Given the description of an element on the screen output the (x, y) to click on. 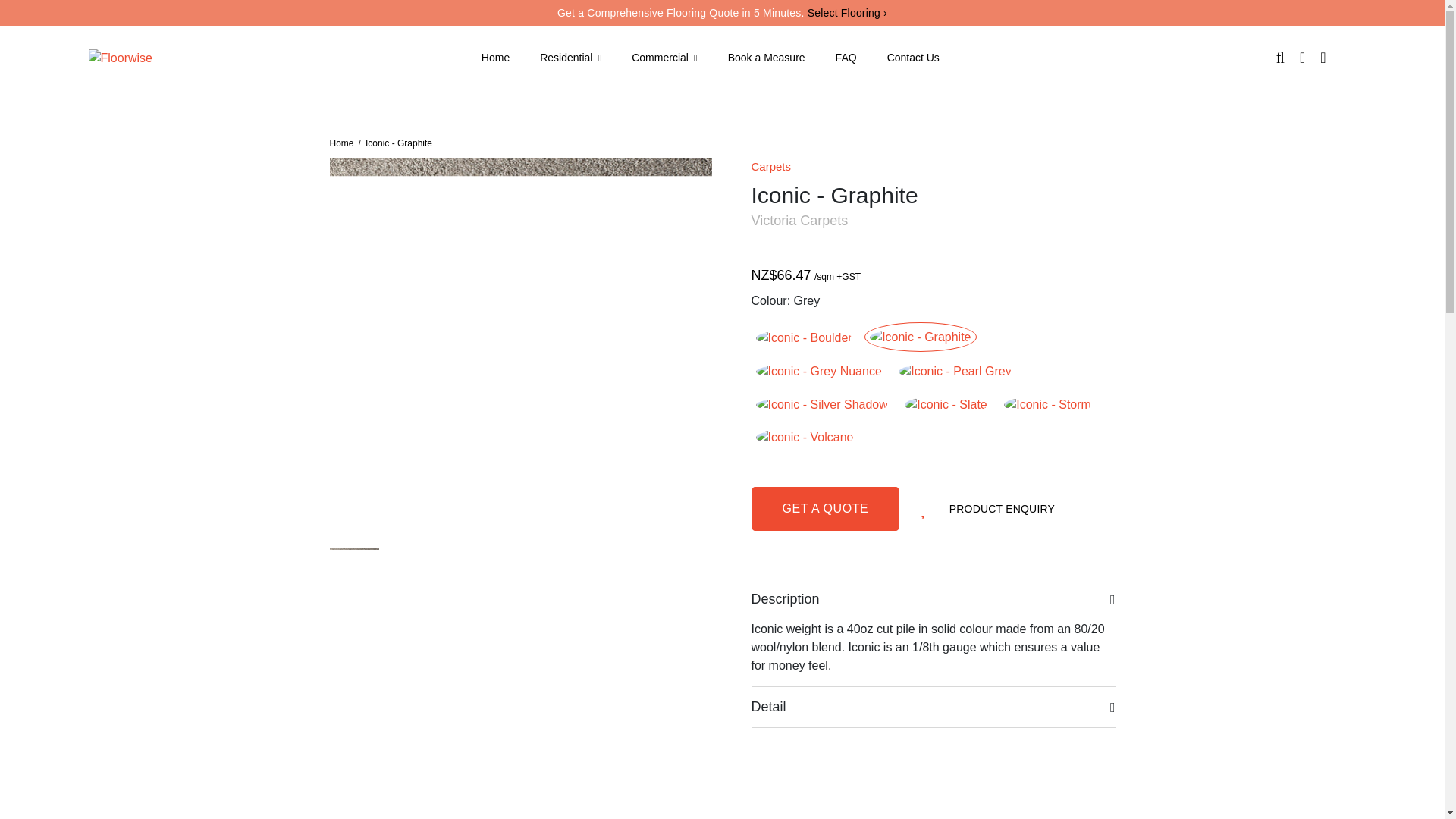
Vinyls (617, 96)
Search (1280, 57)
Vinyls (469, 96)
Book a Measure (766, 57)
Floorwise (119, 56)
Commercial (664, 57)
FAQ (846, 57)
Cart (1302, 57)
Carpet Tiles (198, 96)
Contact Us (912, 57)
Contact Us (912, 57)
Residental (570, 57)
Laminate (973, 96)
Home (495, 57)
Book a Measure (766, 57)
